Given the description of an element on the screen output the (x, y) to click on. 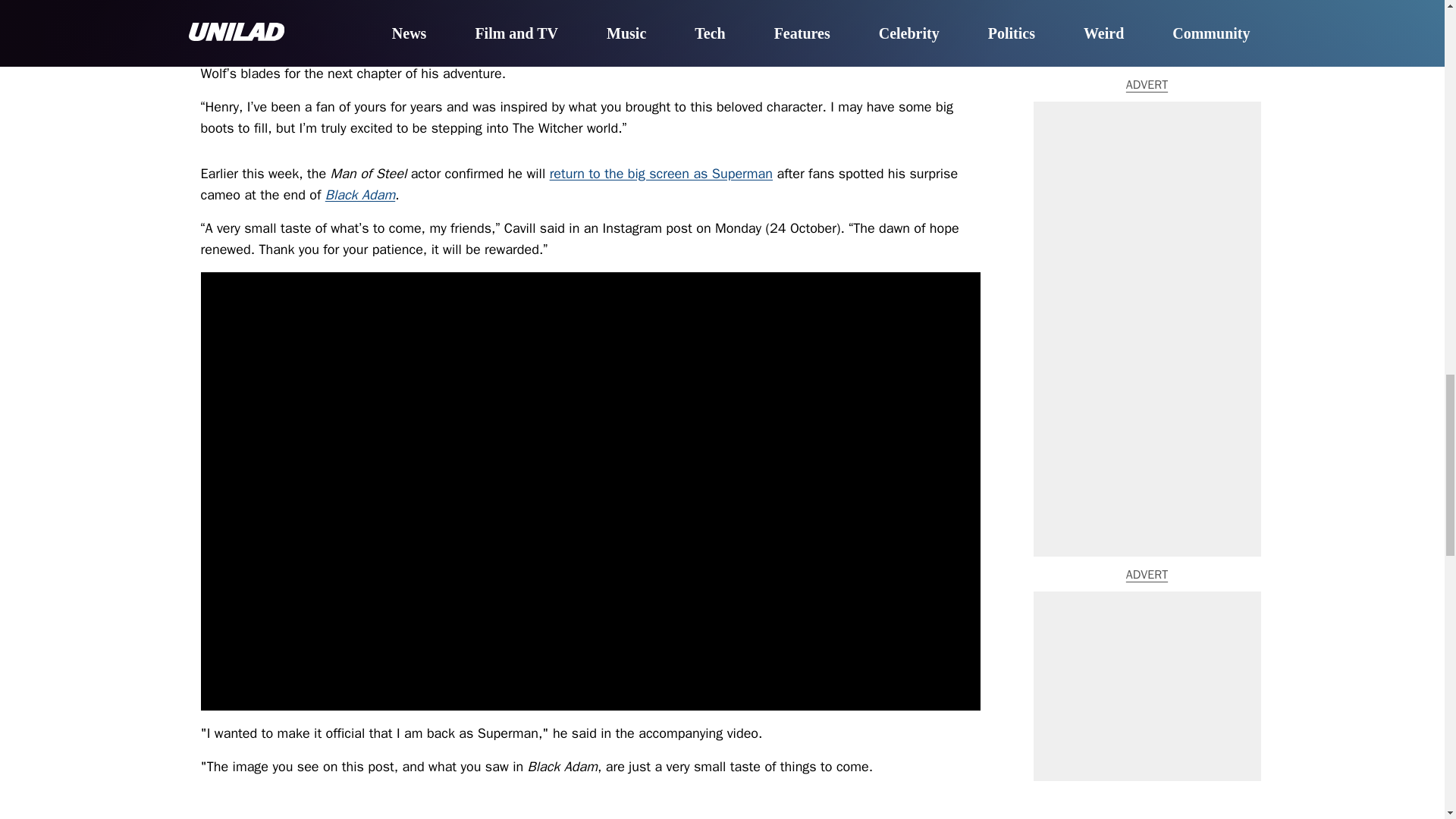
return to the big screen as Superman (661, 173)
Black Adam (359, 194)
